Given the description of an element on the screen output the (x, y) to click on. 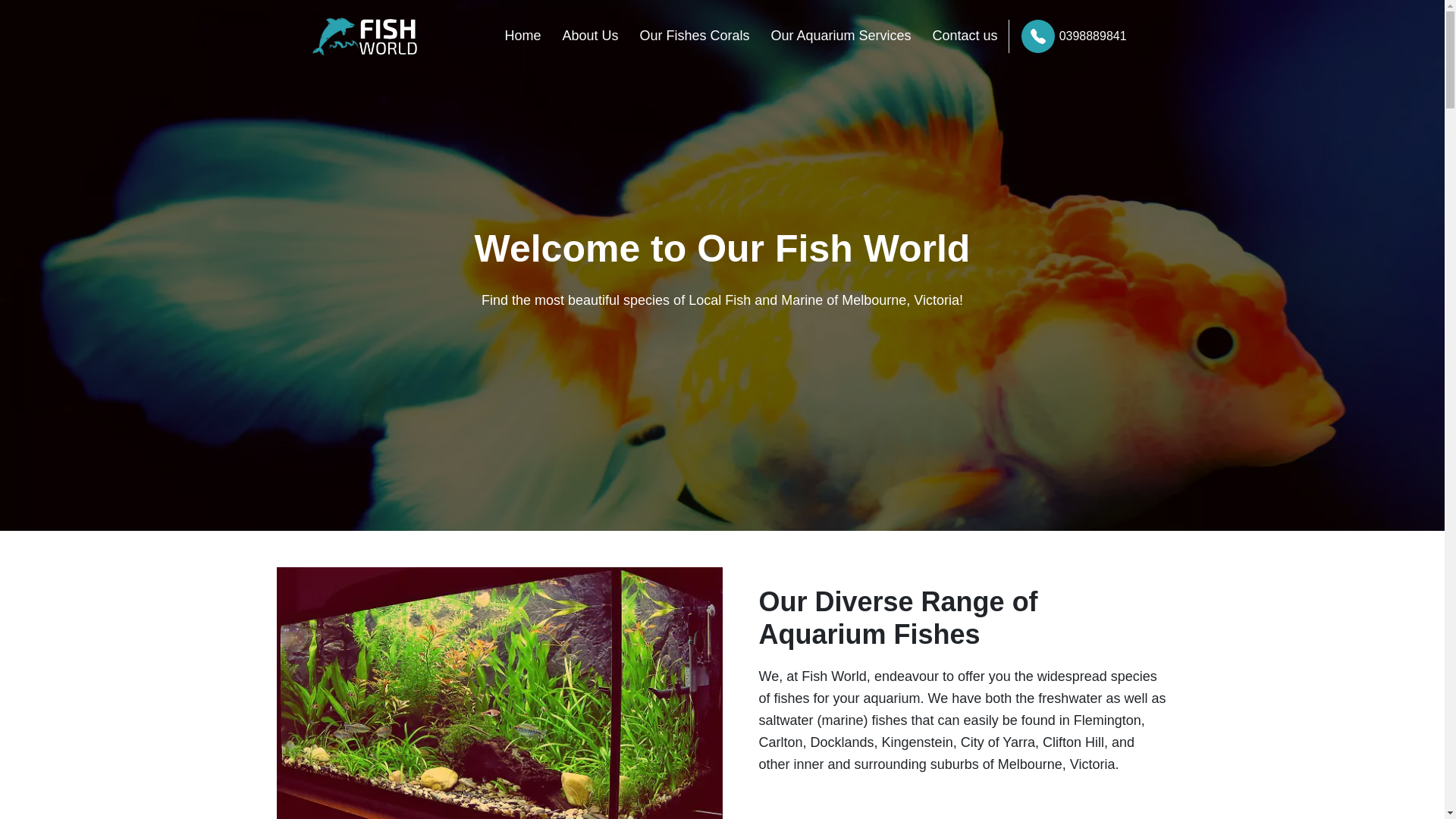
Home Element type: text (522, 35)
Our Aquarium Services Element type: text (840, 35)
Contact us Element type: text (964, 35)
0398889841 Element type: text (1067, 36)
About Us Element type: text (589, 35)
Our Fishes Corals Element type: text (694, 35)
